Given the description of an element on the screen output the (x, y) to click on. 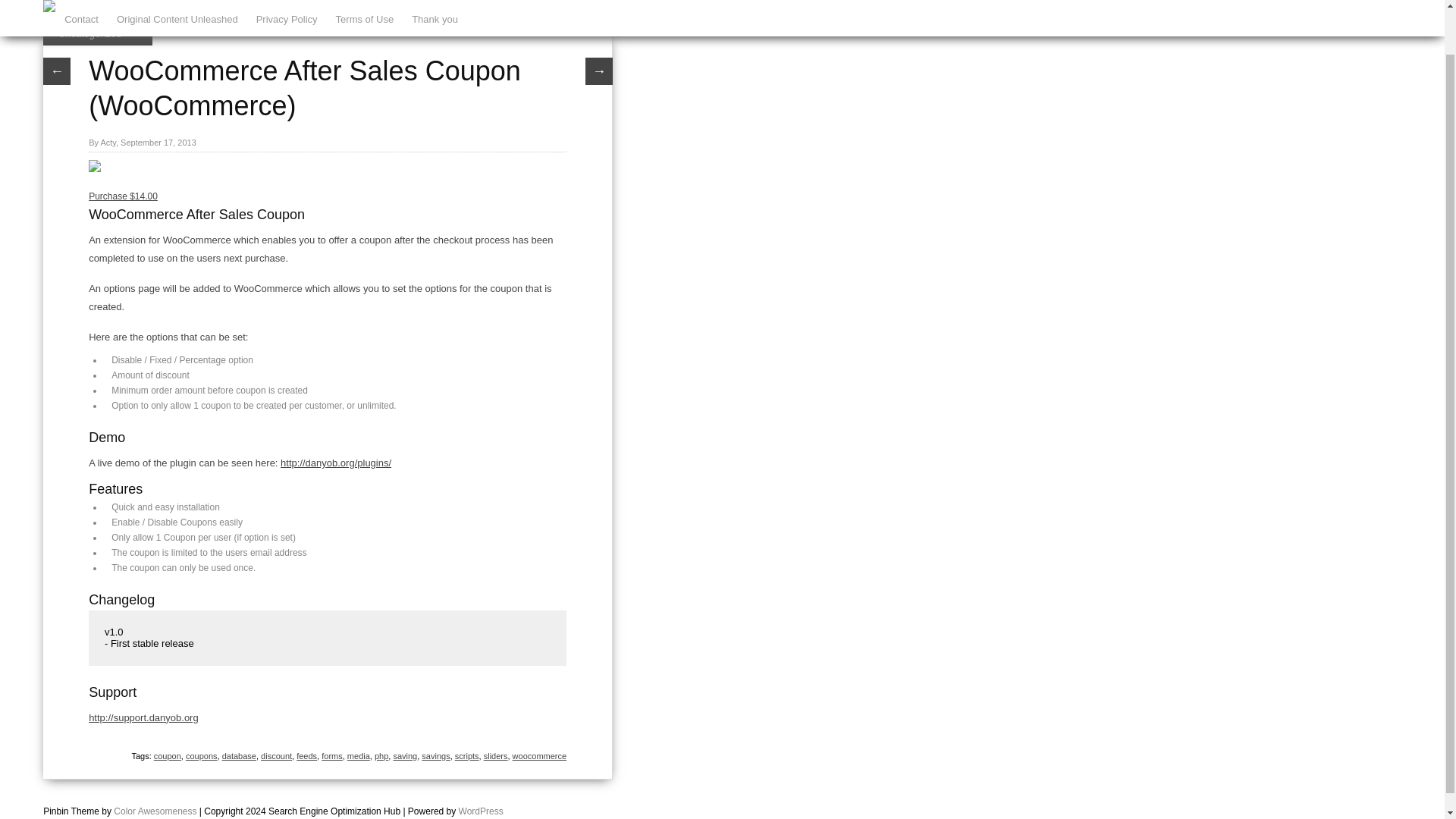
php (381, 755)
discount (276, 755)
coupons (201, 755)
Color Awesomeness (154, 810)
saving (404, 755)
forms (331, 755)
scripts (466, 755)
sliders (495, 755)
WordPress (480, 810)
database (239, 755)
feeds (307, 755)
Color Awesomeness (154, 810)
Powered by WordPress (480, 810)
savings (435, 755)
coupon (167, 755)
